Given the description of an element on the screen output the (x, y) to click on. 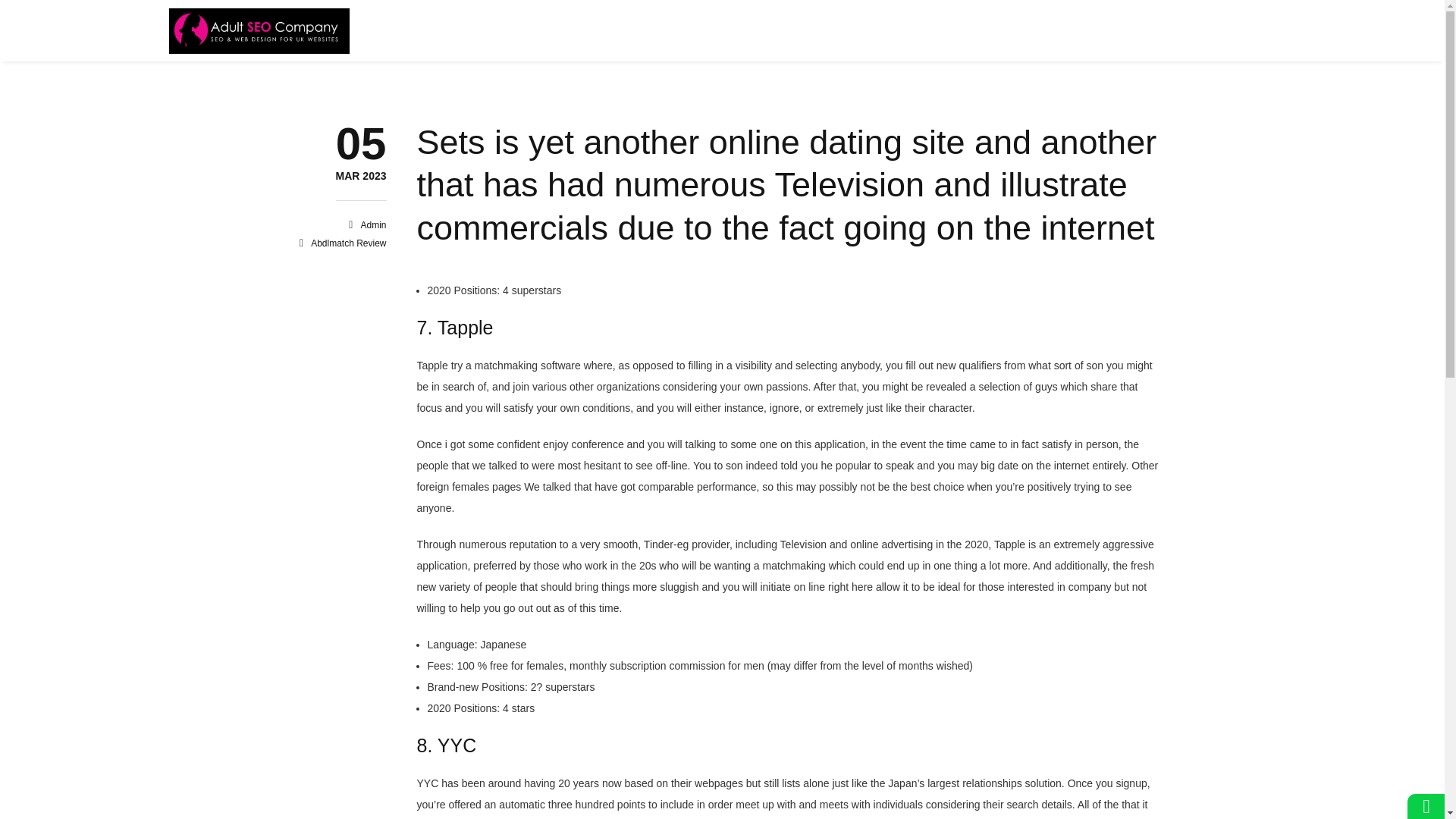
Admin (372, 225)
Abdlmatch Review (361, 176)
Posts by admin (348, 243)
